Given the description of an element on the screen output the (x, y) to click on. 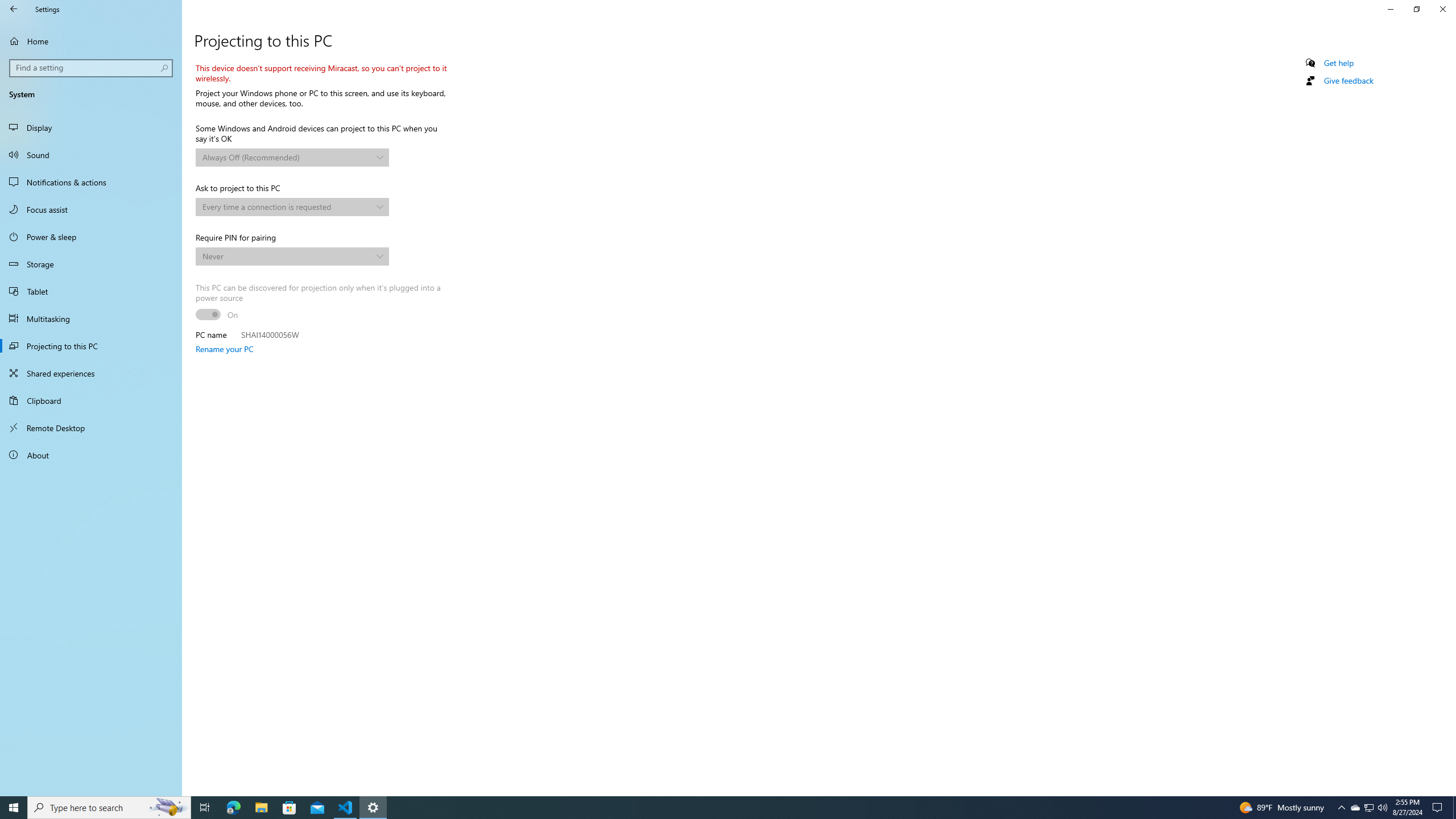
Restore Settings (1416, 9)
Focus assist (91, 208)
Rename your PC (224, 348)
Projecting to this PC (91, 345)
Require PIN for pairing (291, 256)
Microsoft Store (289, 807)
Ask to project to this PC (291, 207)
Tablet (91, 290)
Sound (91, 154)
Give feedback (1348, 80)
Notification Chevron (1341, 807)
